Given the description of an element on the screen output the (x, y) to click on. 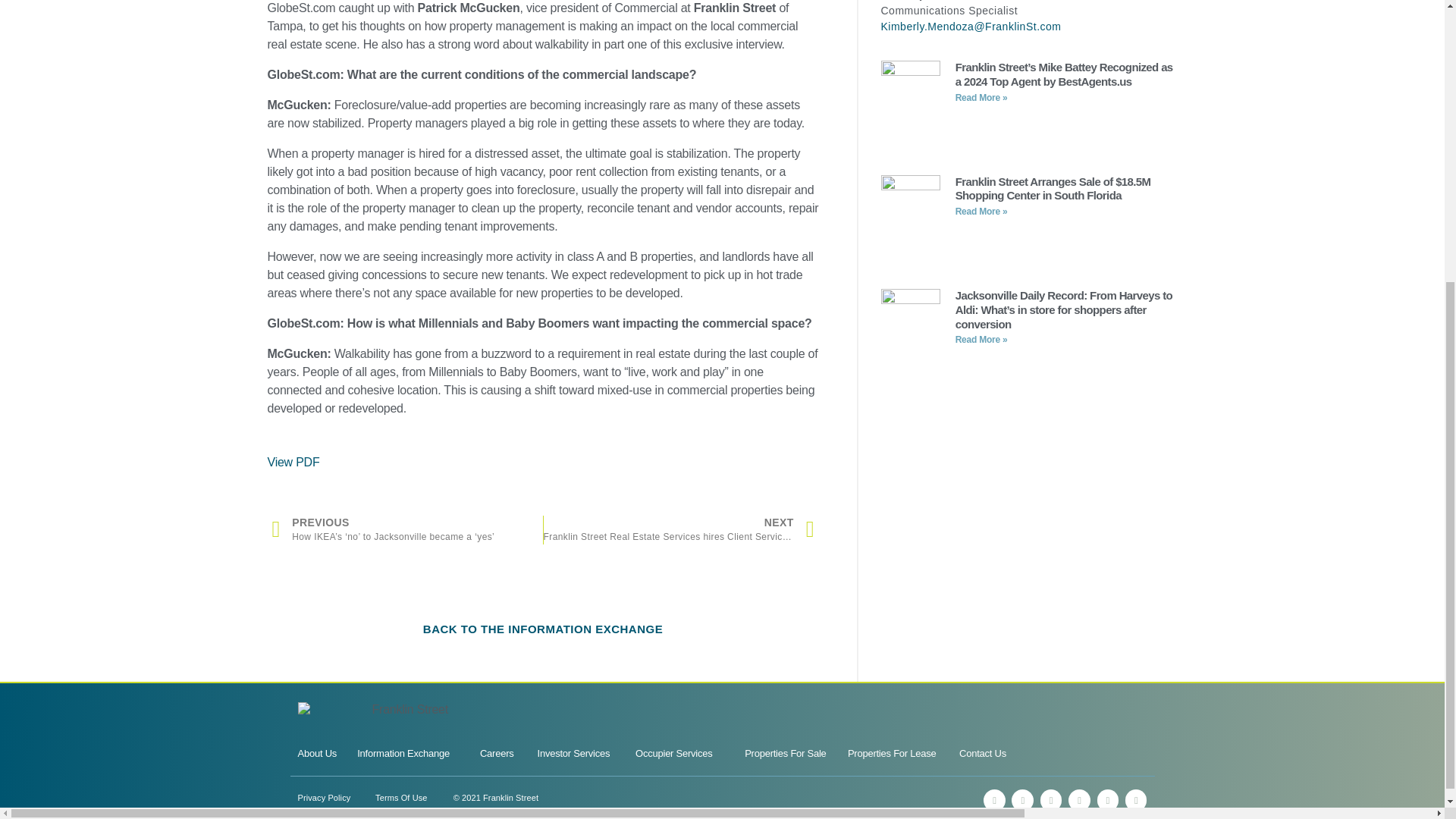
View PDF (292, 461)
